Given the description of an element on the screen output the (x, y) to click on. 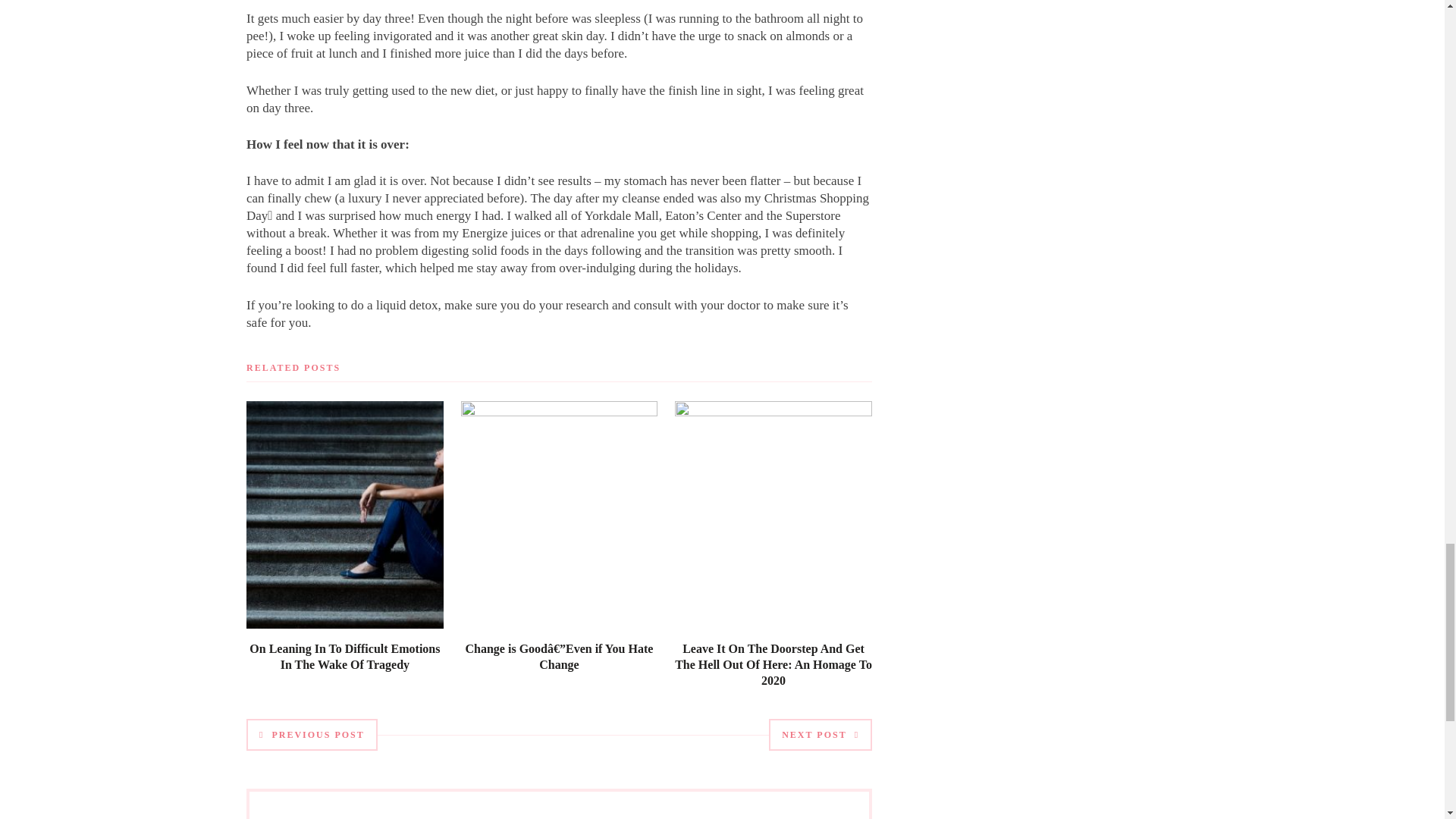
On Leaning In To Difficult Emotions In The Wake Of Tragedy (343, 656)
